Given the description of an element on the screen output the (x, y) to click on. 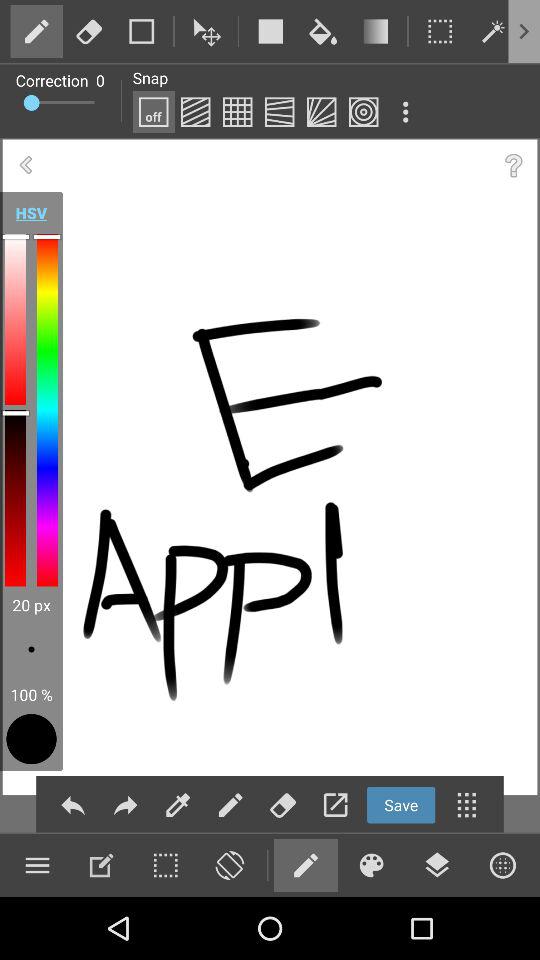
open menu (37, 865)
